Given the description of an element on the screen output the (x, y) to click on. 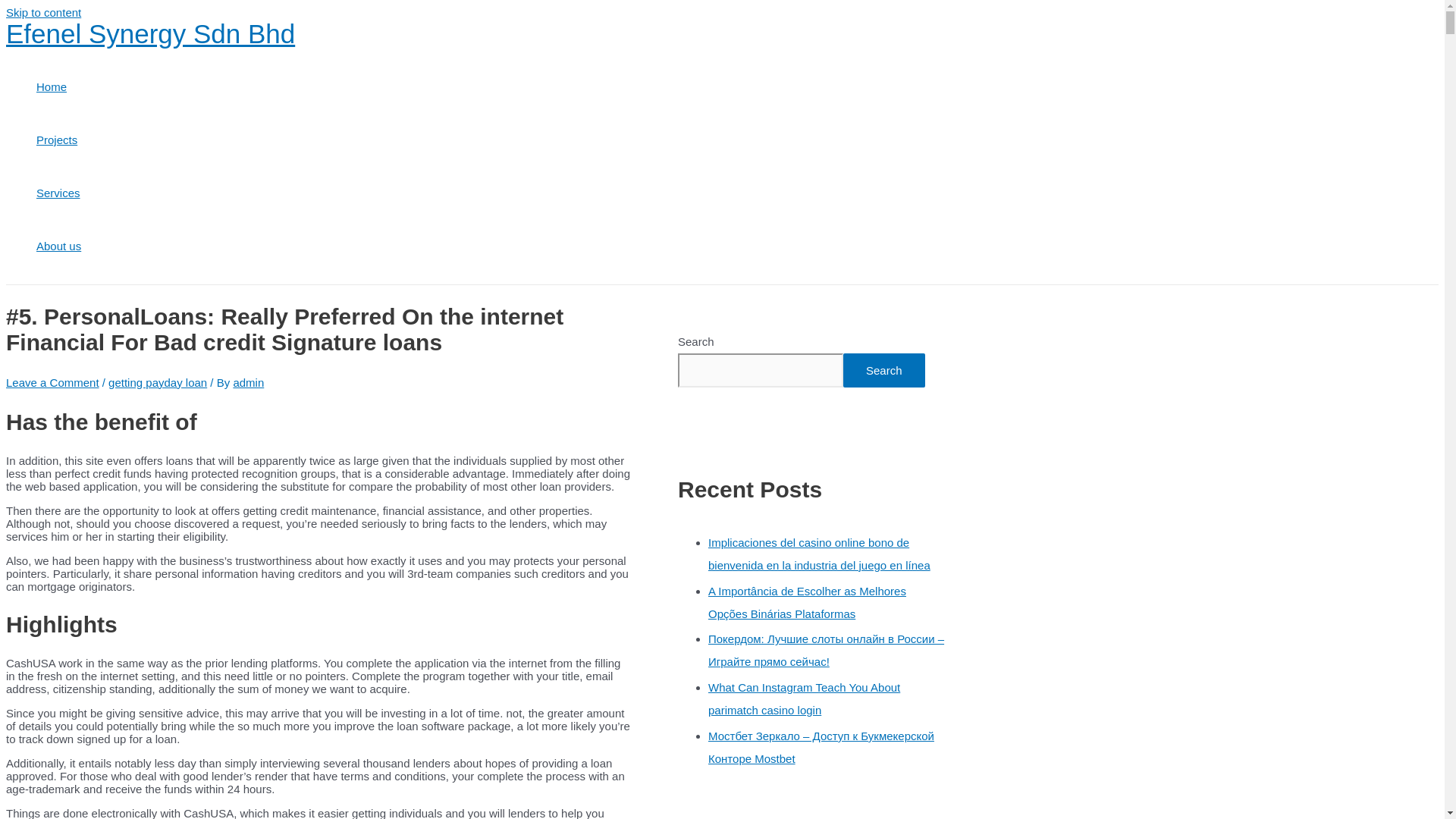
What Can Instagram Teach You About parimatch casino login (803, 698)
Search (883, 369)
Leave a Comment (52, 382)
admin (247, 382)
getting payday loan (156, 382)
Efenel Synergy Sdn Bhd (150, 33)
View all posts by admin (247, 382)
Skip to content (43, 11)
